Given the description of an element on the screen output the (x, y) to click on. 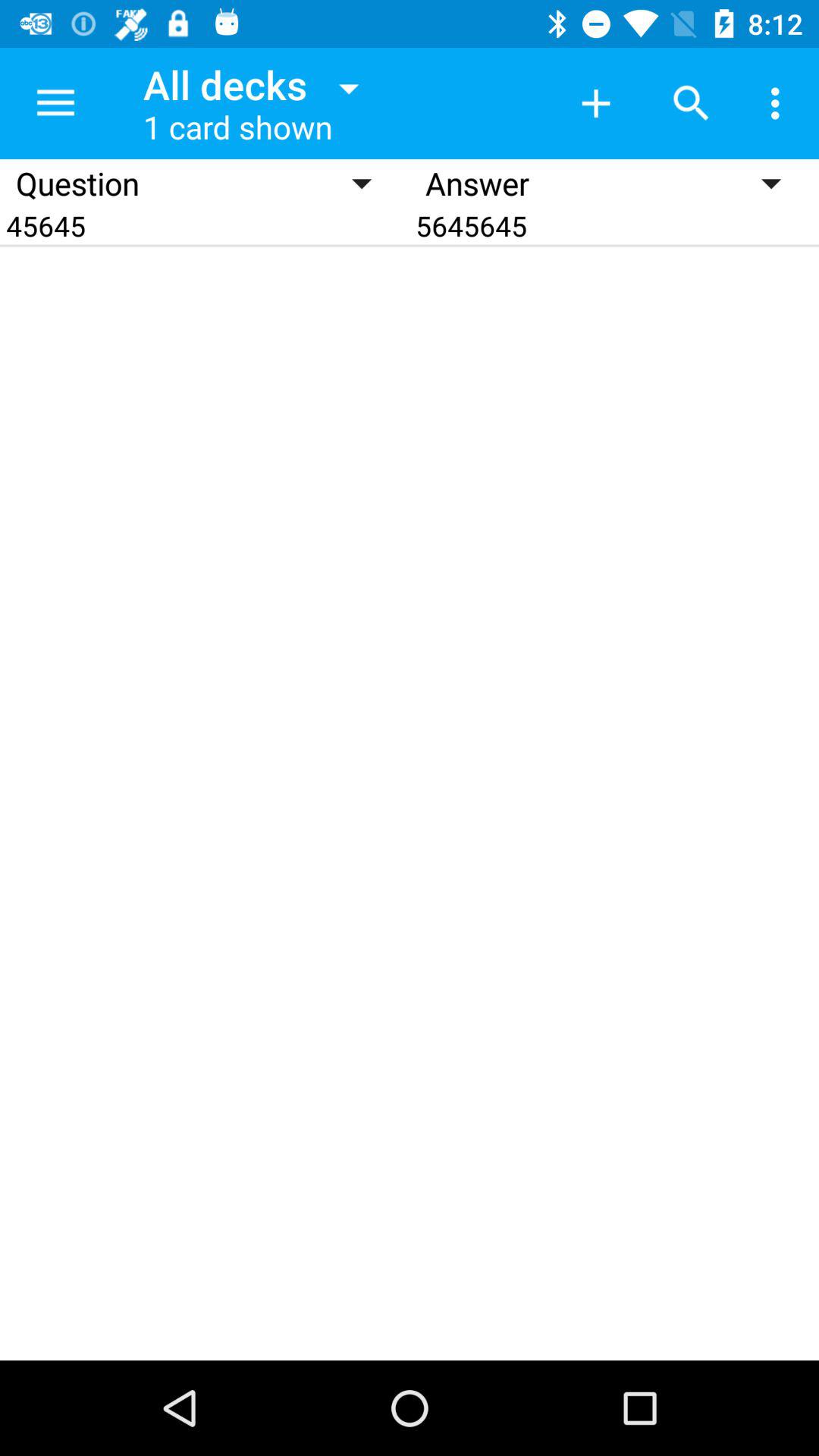
tap icon below the answer (614, 225)
